Given the description of an element on the screen output the (x, y) to click on. 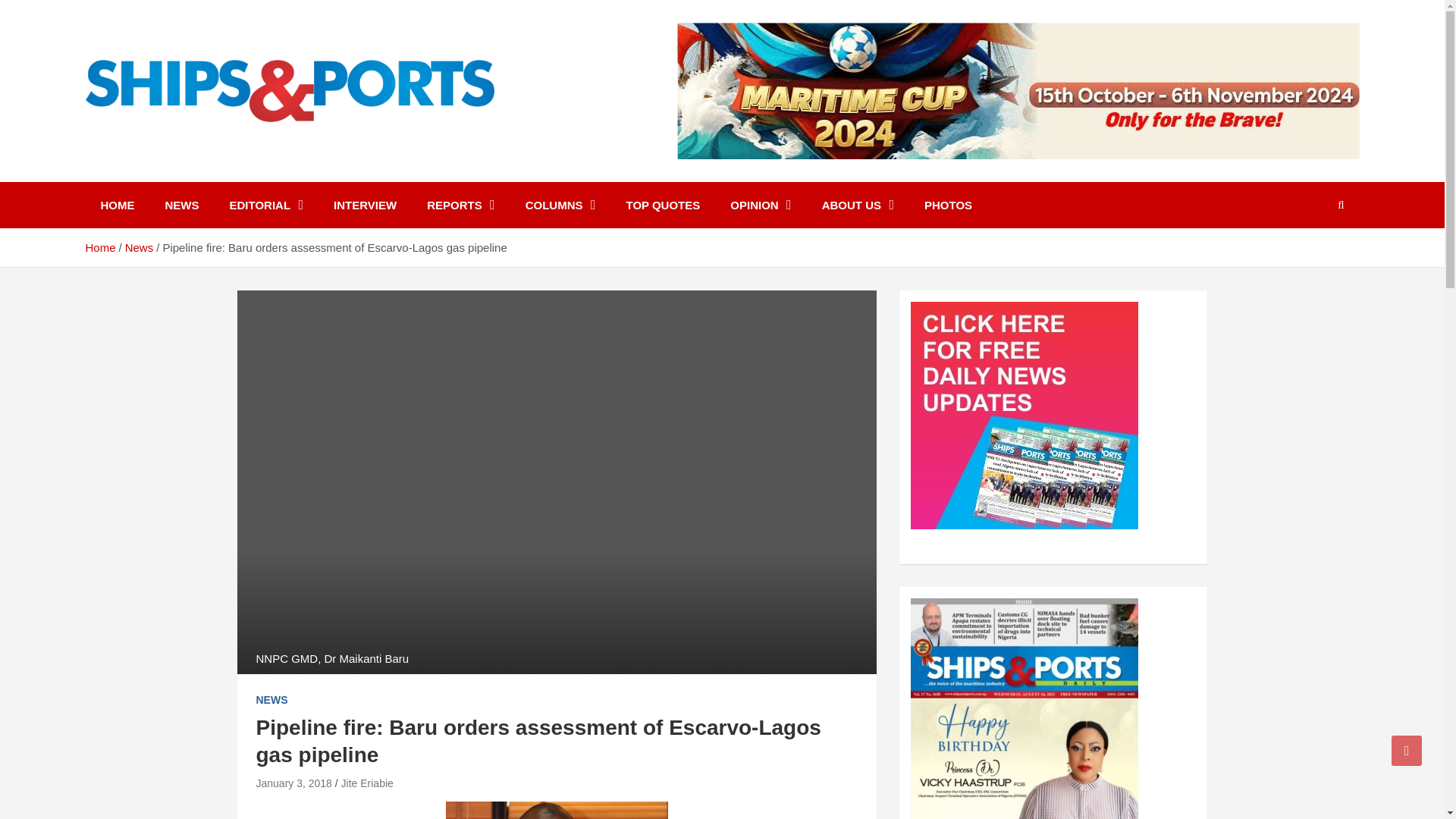
Jite Eriabie (366, 783)
ABOUT US (857, 204)
NEWS (272, 700)
COLUMNS (561, 204)
HOME (116, 204)
January 3, 2018 (293, 783)
EDITORIAL (266, 204)
Go to Top (1406, 750)
News (139, 246)
REPORTS (461, 204)
